Given the description of an element on the screen output the (x, y) to click on. 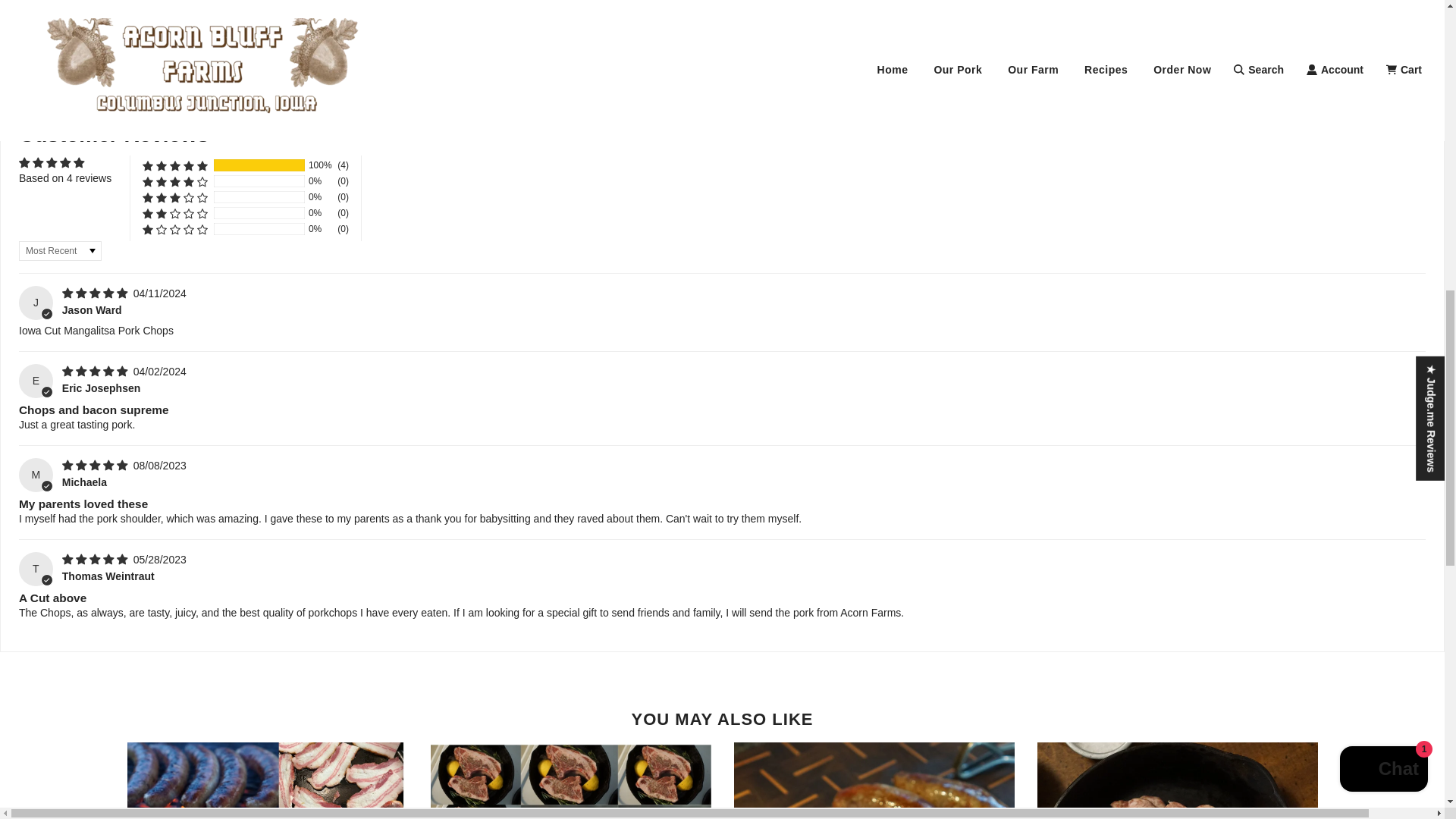
Breakfast Sausage Links-Acorn Bluffs Mangalitsa (1176, 780)
Polish Sausage (873, 780)
Chef's Box - Quarterly Subscription (267, 780)
